Given the description of an element on the screen output the (x, y) to click on. 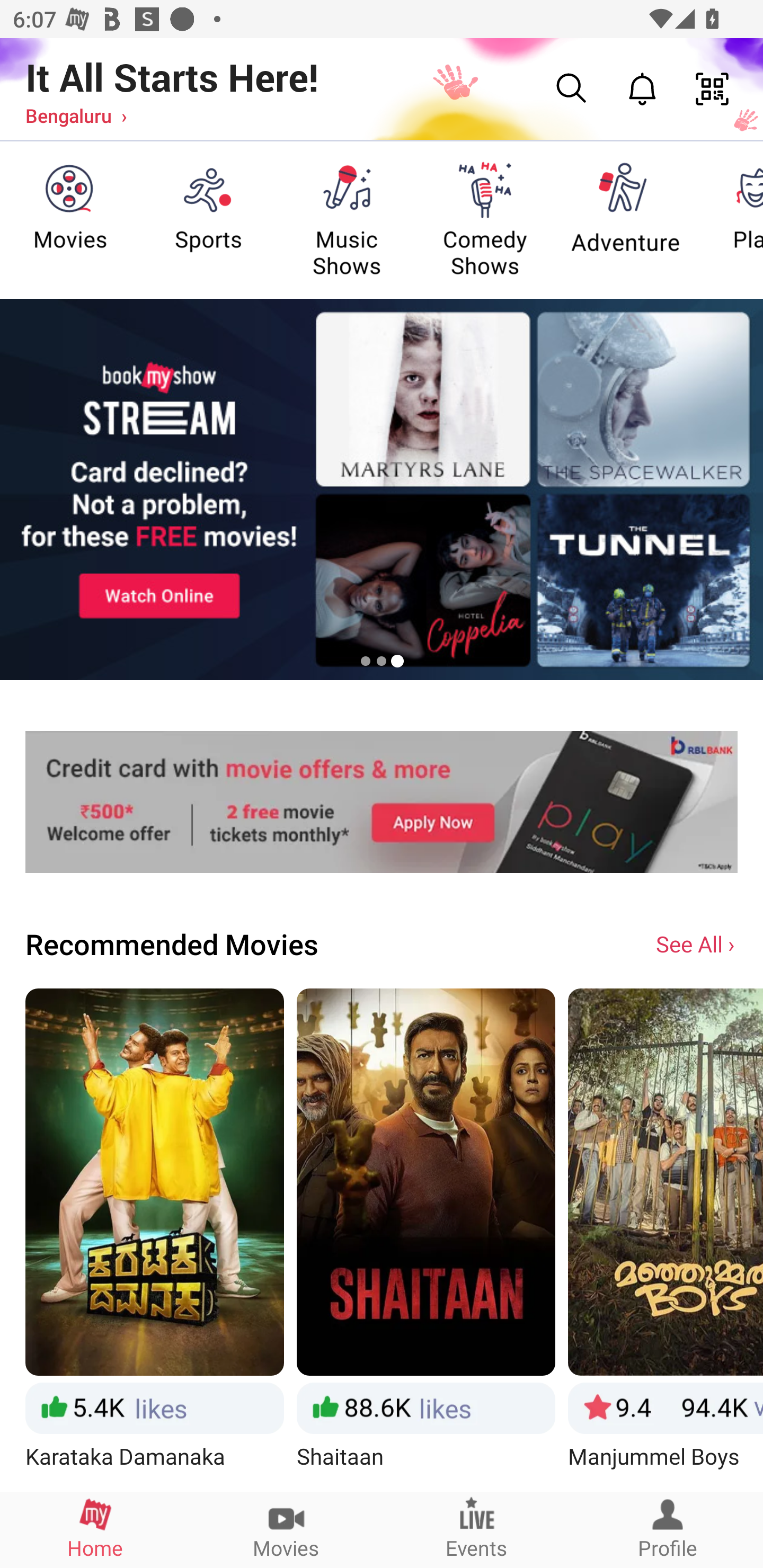
Bengaluru  › (76, 114)
See All › (696, 943)
Karataka Damanaka (154, 1239)
Shaitaan (425, 1239)
Manjummel Boys (665, 1239)
Home (95, 1529)
Movies (285, 1529)
Events (476, 1529)
Profile (667, 1529)
